Given the description of an element on the screen output the (x, y) to click on. 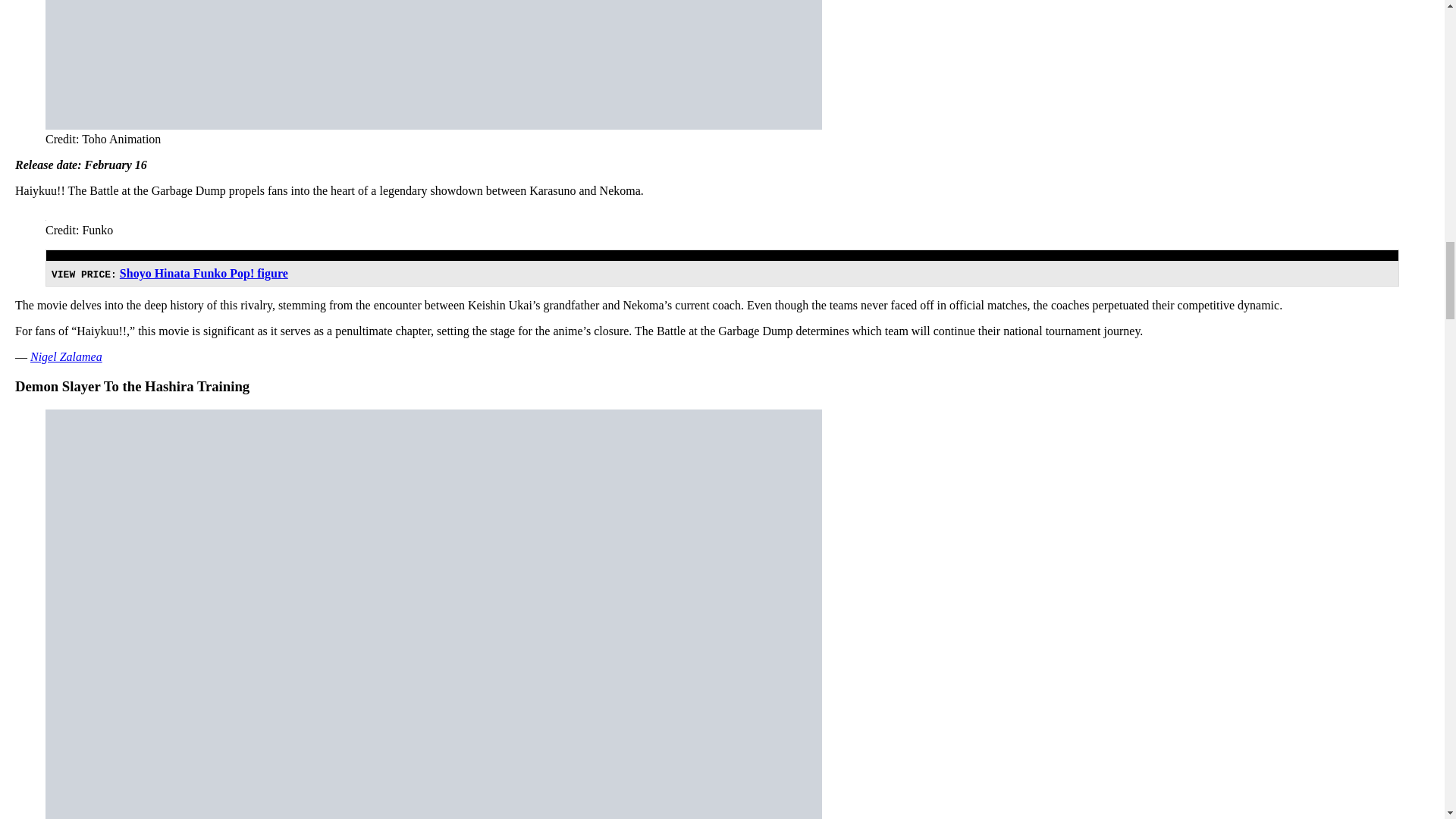
Bookmark these 5 must-watch anime movies of 2024 (433, 64)
